Given the description of an element on the screen output the (x, y) to click on. 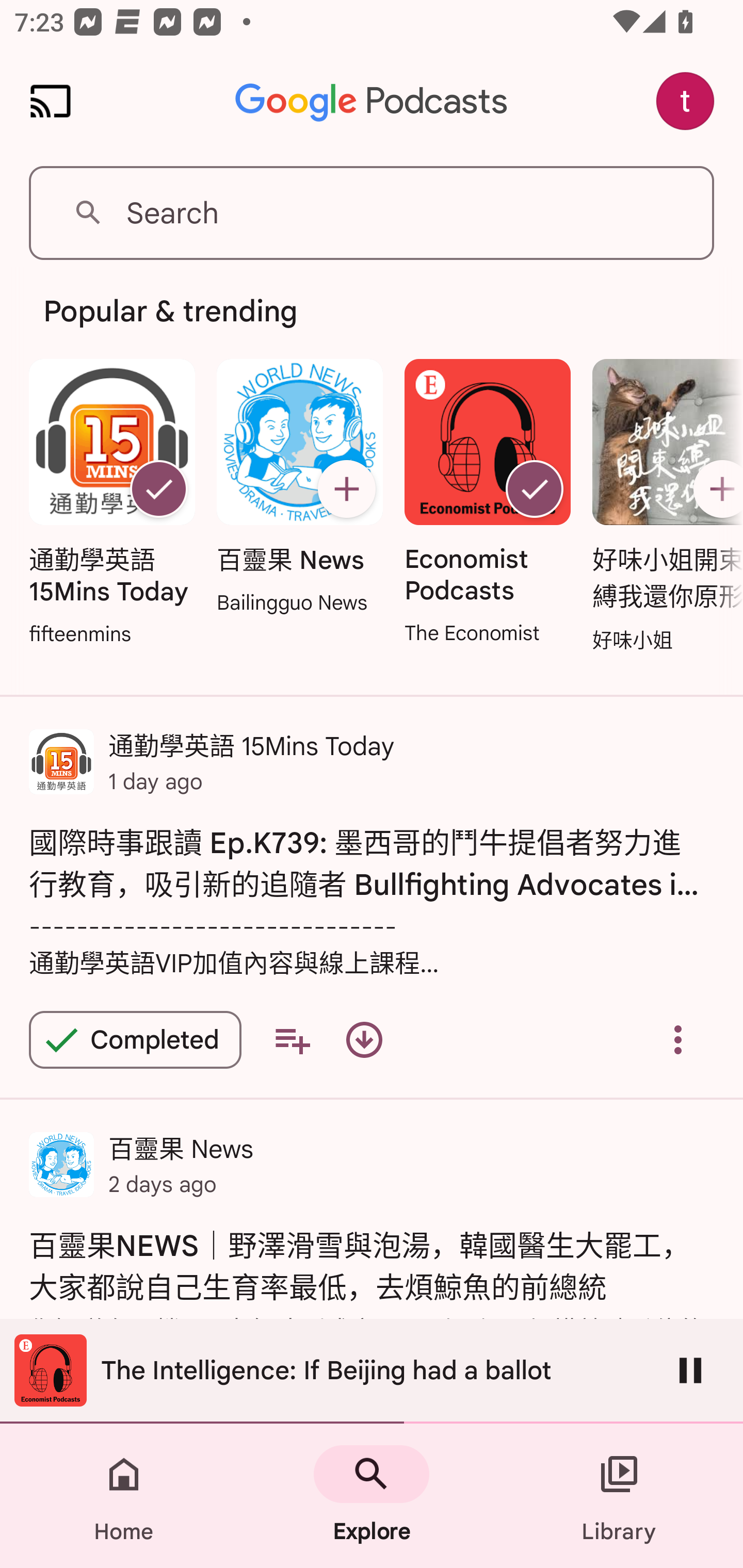
Cast. Disconnected (50, 101)
Search (371, 212)
百靈果 News Subscribe 百靈果 News Bailingguo News (299, 488)
好味小姐開束縛我還你原形 Subscribe 好味小姐開束縛我還你原形 好味小姐 (662, 507)
Unsubscribe (158, 489)
Subscribe (346, 489)
Unsubscribe (534, 489)
Subscribe (714, 489)
Add to your queue (291, 1040)
Download episode (364, 1040)
Overflow menu (677, 1040)
Pause (690, 1370)
Home (123, 1495)
Library (619, 1495)
